Given the description of an element on the screen output the (x, y) to click on. 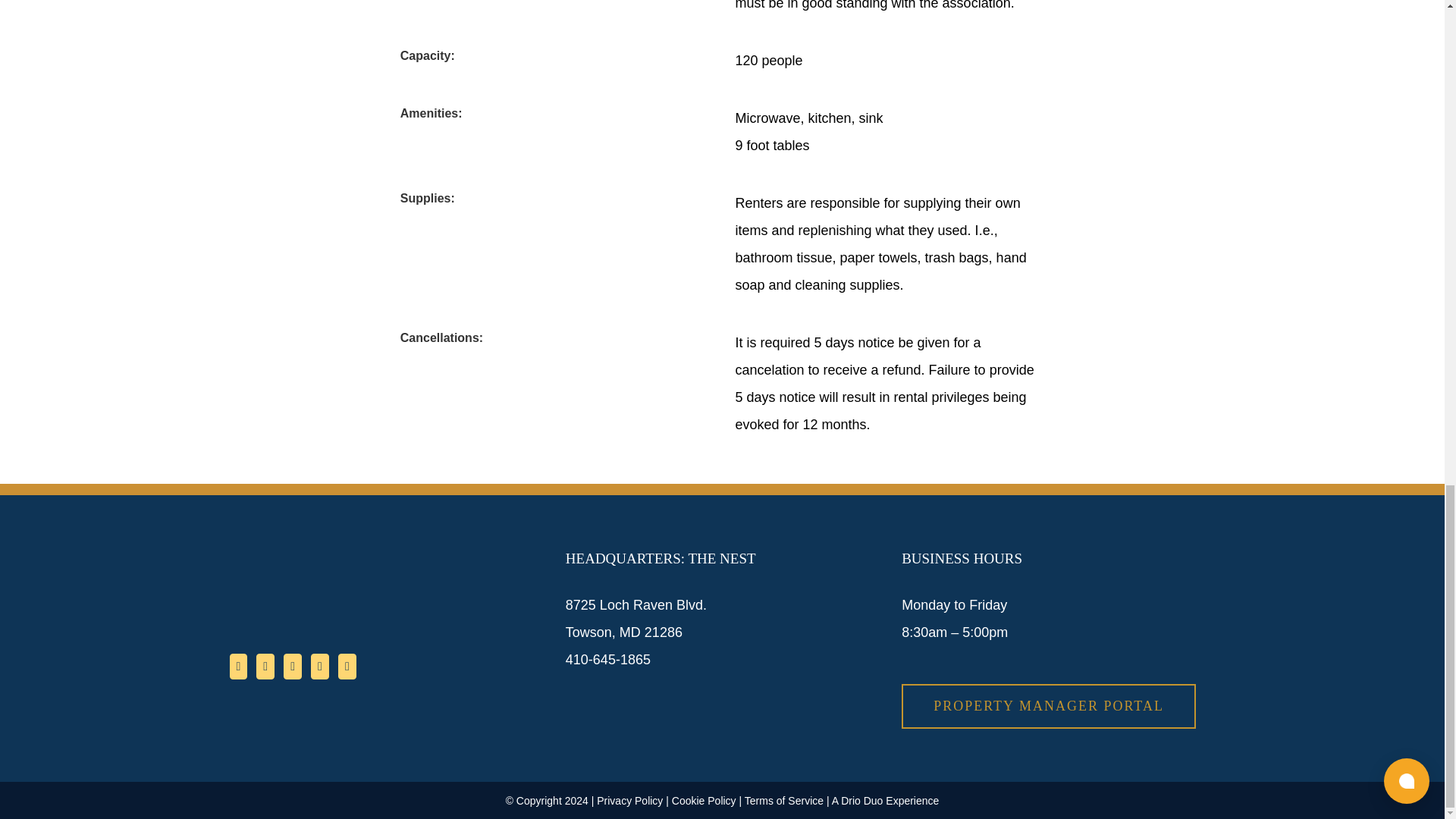
Cookie Policy (703, 800)
A Drio Duo Experience (885, 800)
PROPERTY MANAGER PORTAL (1048, 705)
Terms of Service (784, 800)
Privacy Policy (629, 800)
